Given the description of an element on the screen output the (x, y) to click on. 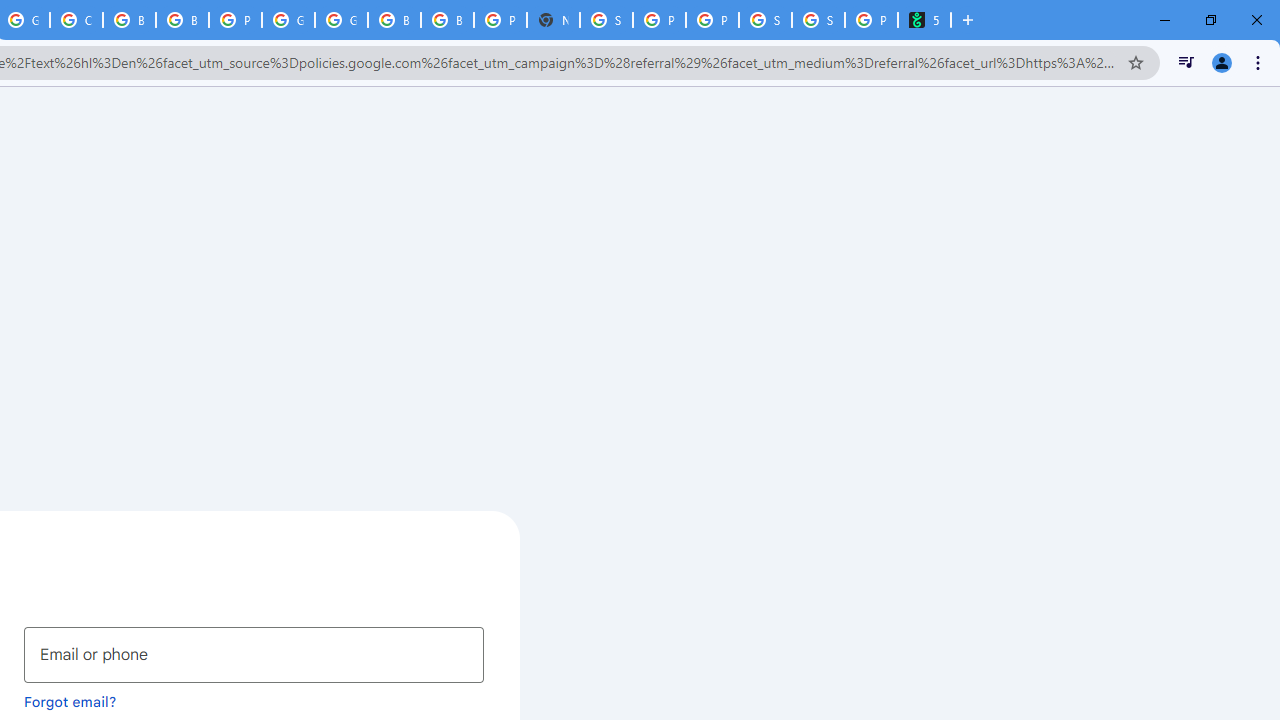
New Tab (553, 20)
Forgot email? (70, 701)
Sign in - Google Accounts (606, 20)
Browse Chrome as a guest - Computer - Google Chrome Help (447, 20)
Email or phone (253, 654)
Browse Chrome as a guest - Computer - Google Chrome Help (182, 20)
